Given the description of an element on the screen output the (x, y) to click on. 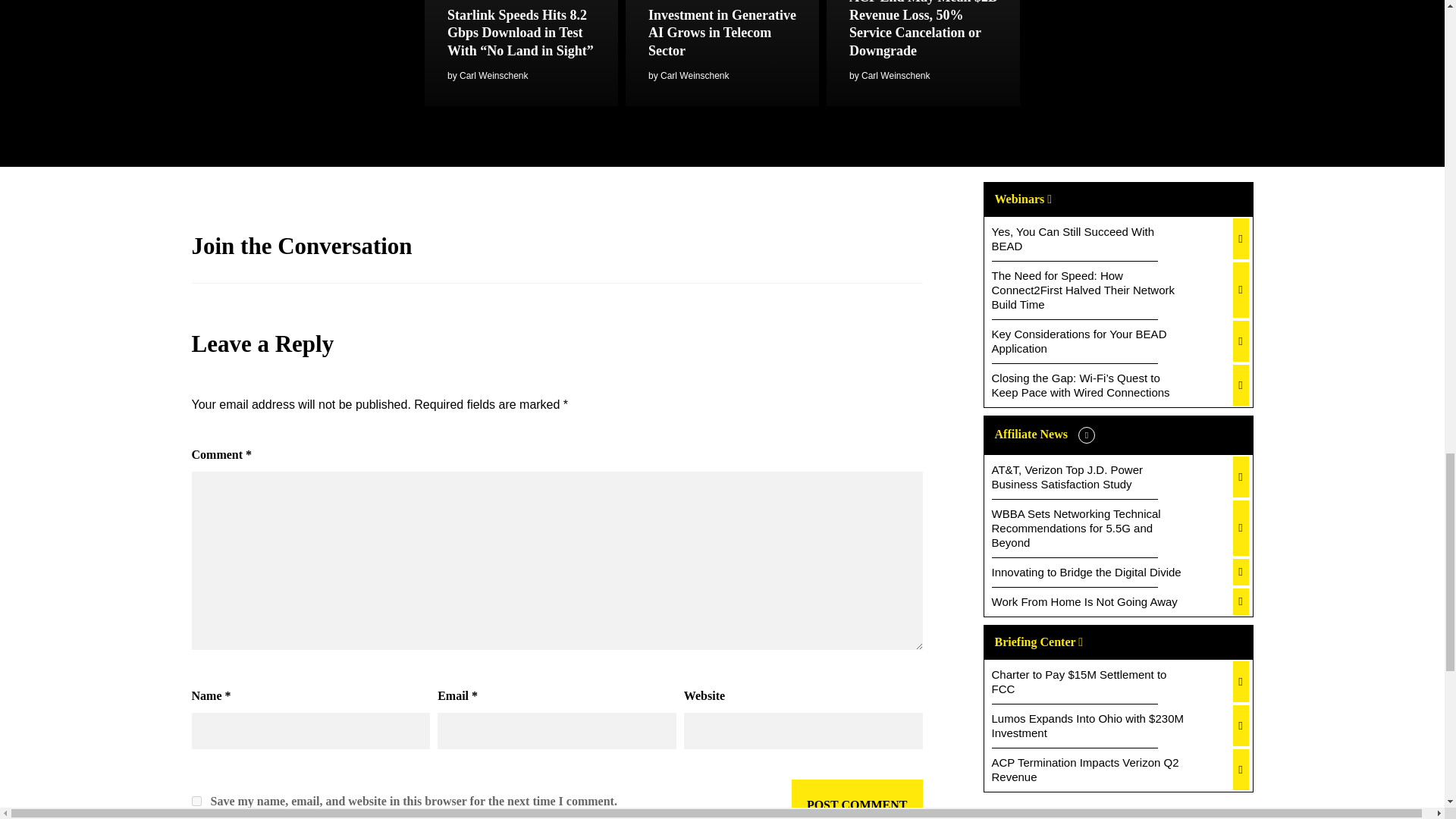
Post Comment (857, 799)
yes (195, 800)
